Given the description of an element on the screen output the (x, y) to click on. 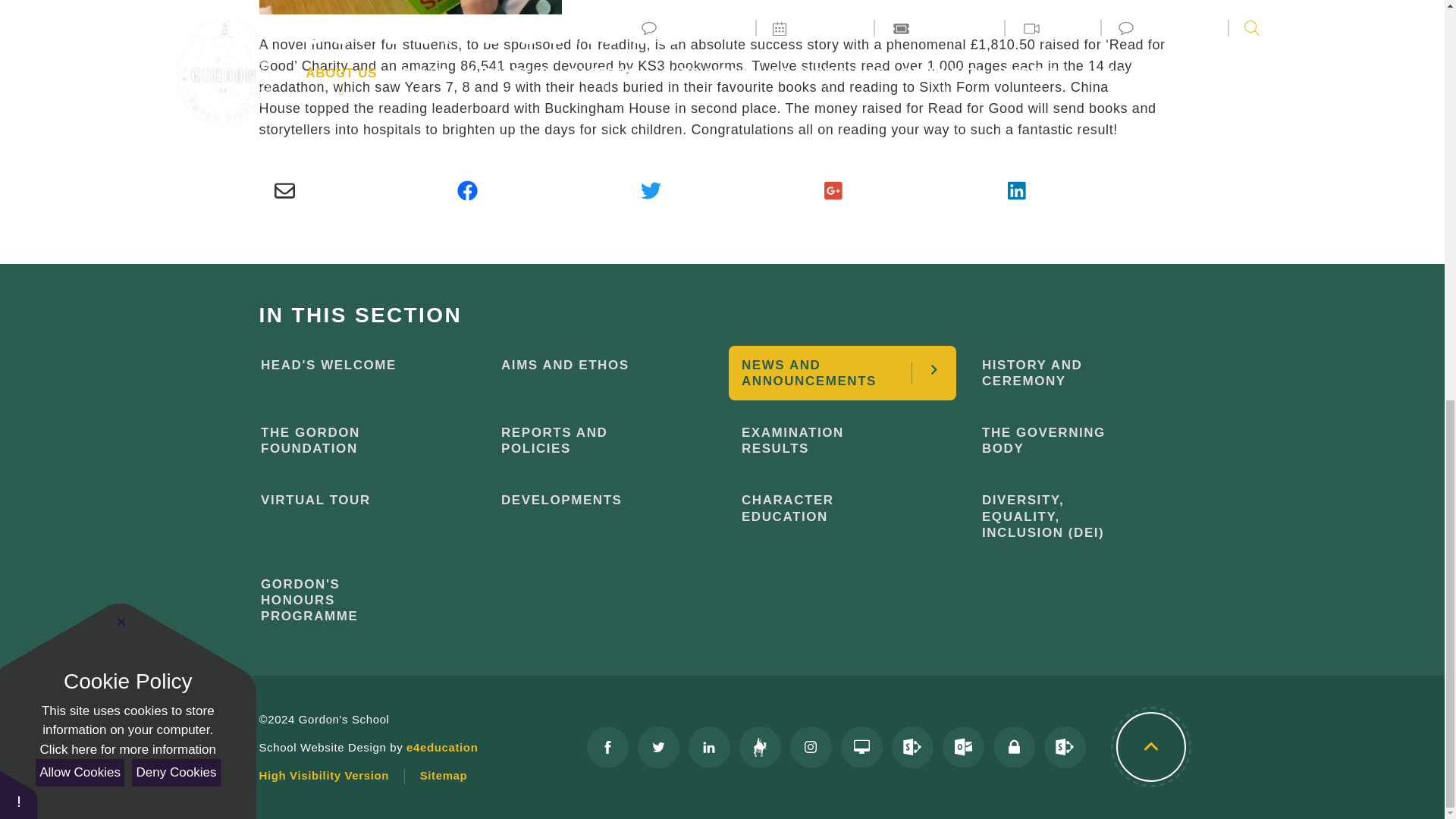
Allow Cookies (78, 2)
Deny Cookies (175, 2)
Cookie Settings (18, 18)
